Given the description of an element on the screen output the (x, y) to click on. 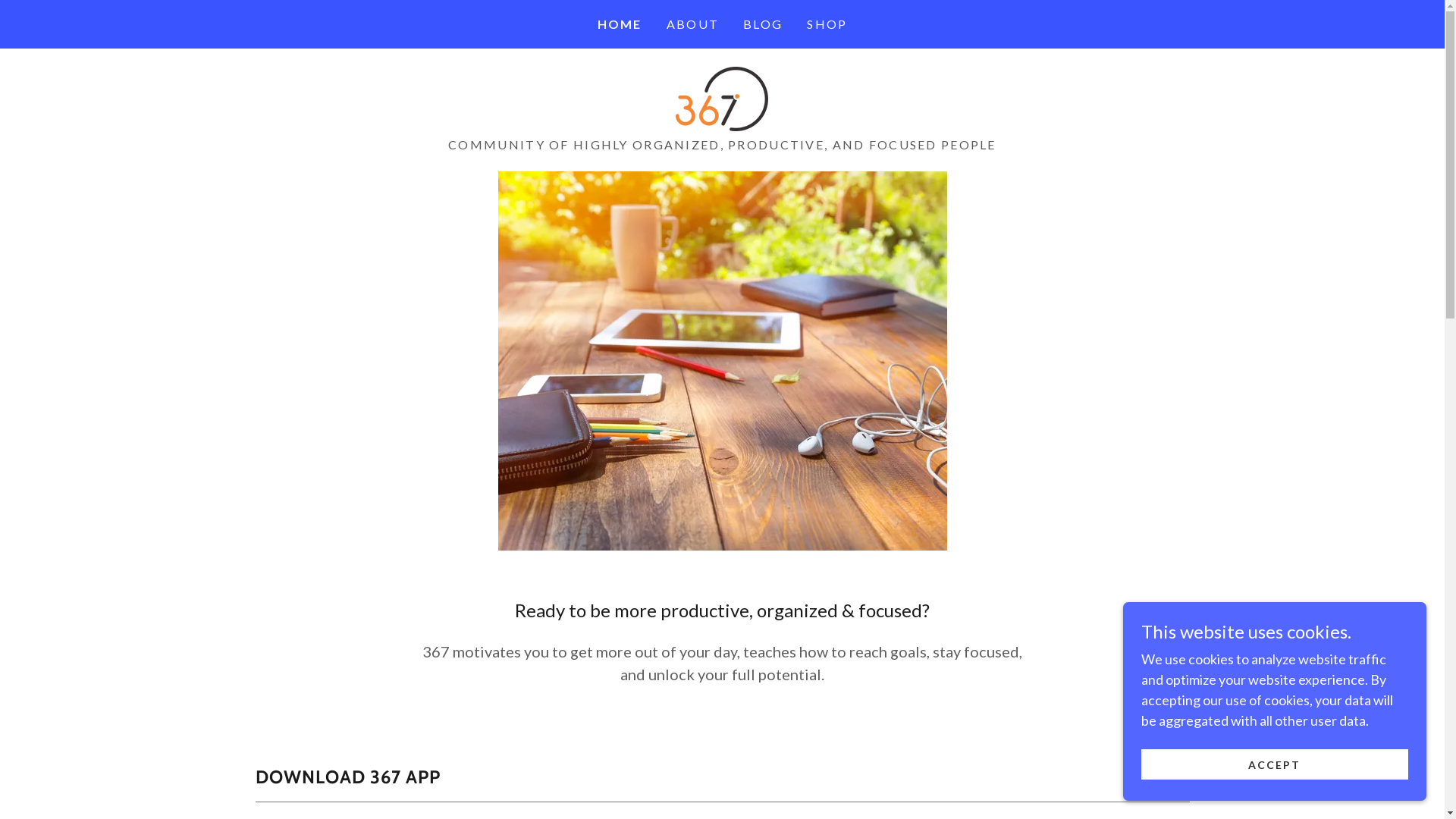
ABOUT Element type: text (692, 23)
SHOP Element type: text (826, 23)
BLOG Element type: text (762, 23)
367pro.com Element type: hover (721, 96)
HOME Element type: text (619, 24)
ACCEPT Element type: text (1274, 764)
